Given the description of an element on the screen output the (x, y) to click on. 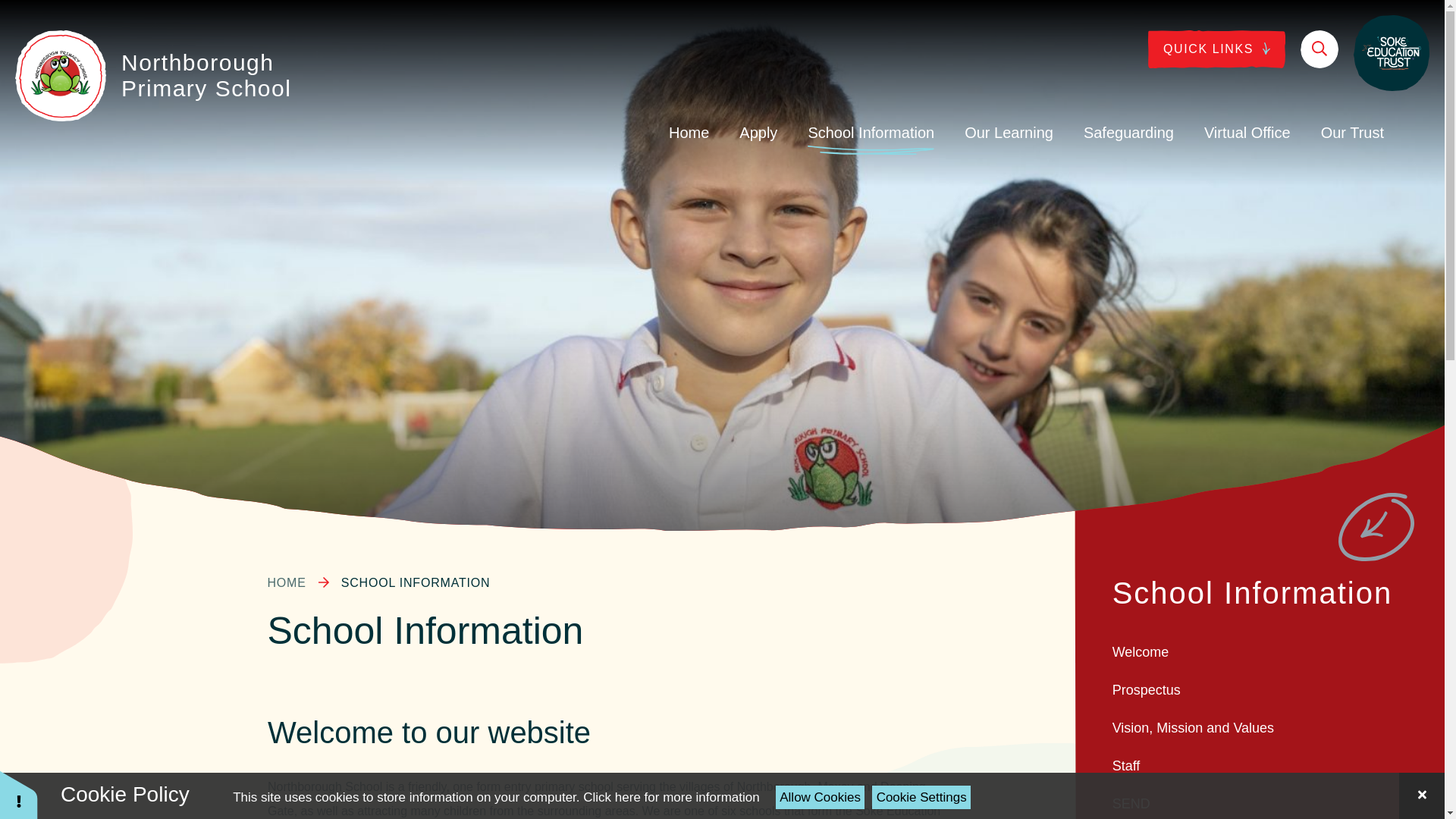
Home (688, 132)
Toggle Search (1319, 48)
Apply (758, 132)
School Information (871, 132)
